Given the description of an element on the screen output the (x, y) to click on. 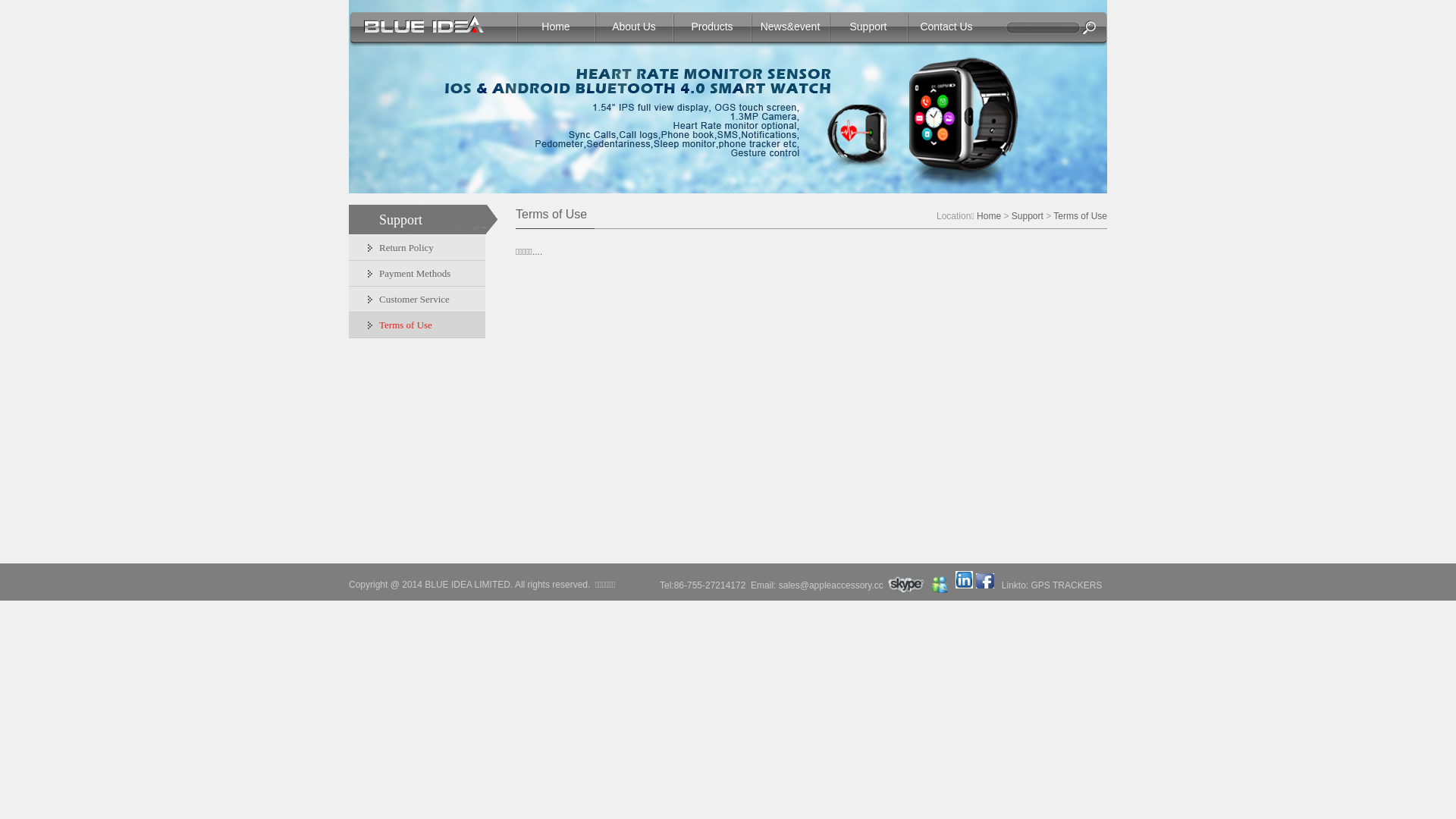
3 Element type: text (748, 177)
Linkto: GPS TRACKERS Element type: text (1051, 585)
2 Element type: text (735, 177)
1 Element type: text (722, 177)
Terms of Use Element type: text (1080, 215)
Home Element type: text (555, 26)
News&event Element type: text (790, 26)
Support Element type: text (868, 26)
Contact Us Element type: text (946, 26)
Return Policy Element type: text (416, 247)
sales@appleaccessory.cc Element type: text (830, 585)
Support Element type: text (1028, 215)
Home Element type: text (988, 215)
Previous Element type: text (27, 89)
About Us Element type: text (633, 26)
Customer Service Element type: text (416, 299)
Terms of Use Element type: text (416, 325)
Products Element type: text (711, 26)
Payment Methods Element type: text (416, 273)
Next Element type: text (1428, 89)
facebook link of BlueIdea Element type: hover (984, 580)
